Given the description of an element on the screen output the (x, y) to click on. 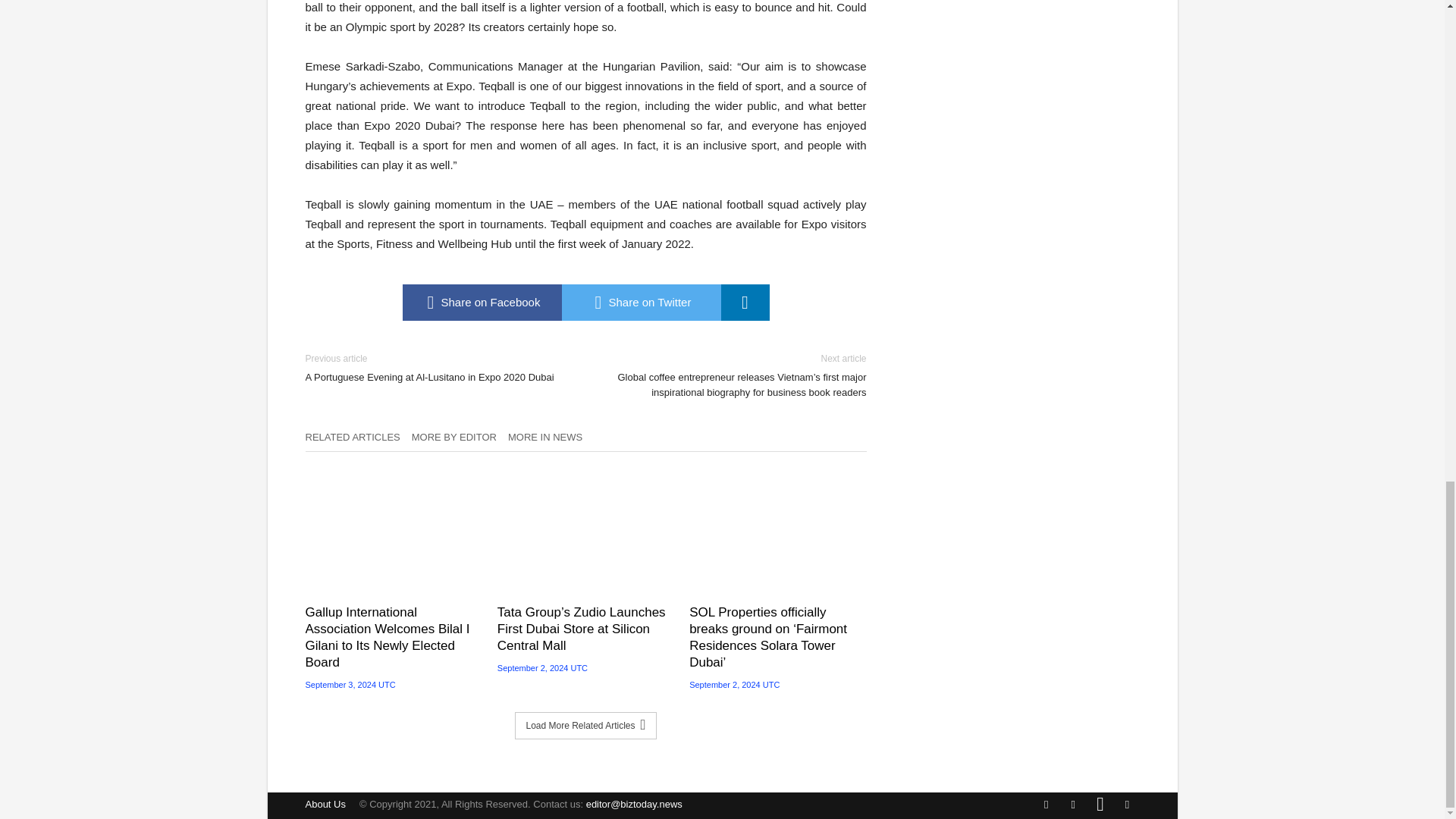
Share on Linkedin (744, 302)
Share on Facebook (480, 302)
RELATED ARTICLES (357, 441)
Share on Twitter (640, 302)
MORE BY EDITOR (460, 441)
